Given the description of an element on the screen output the (x, y) to click on. 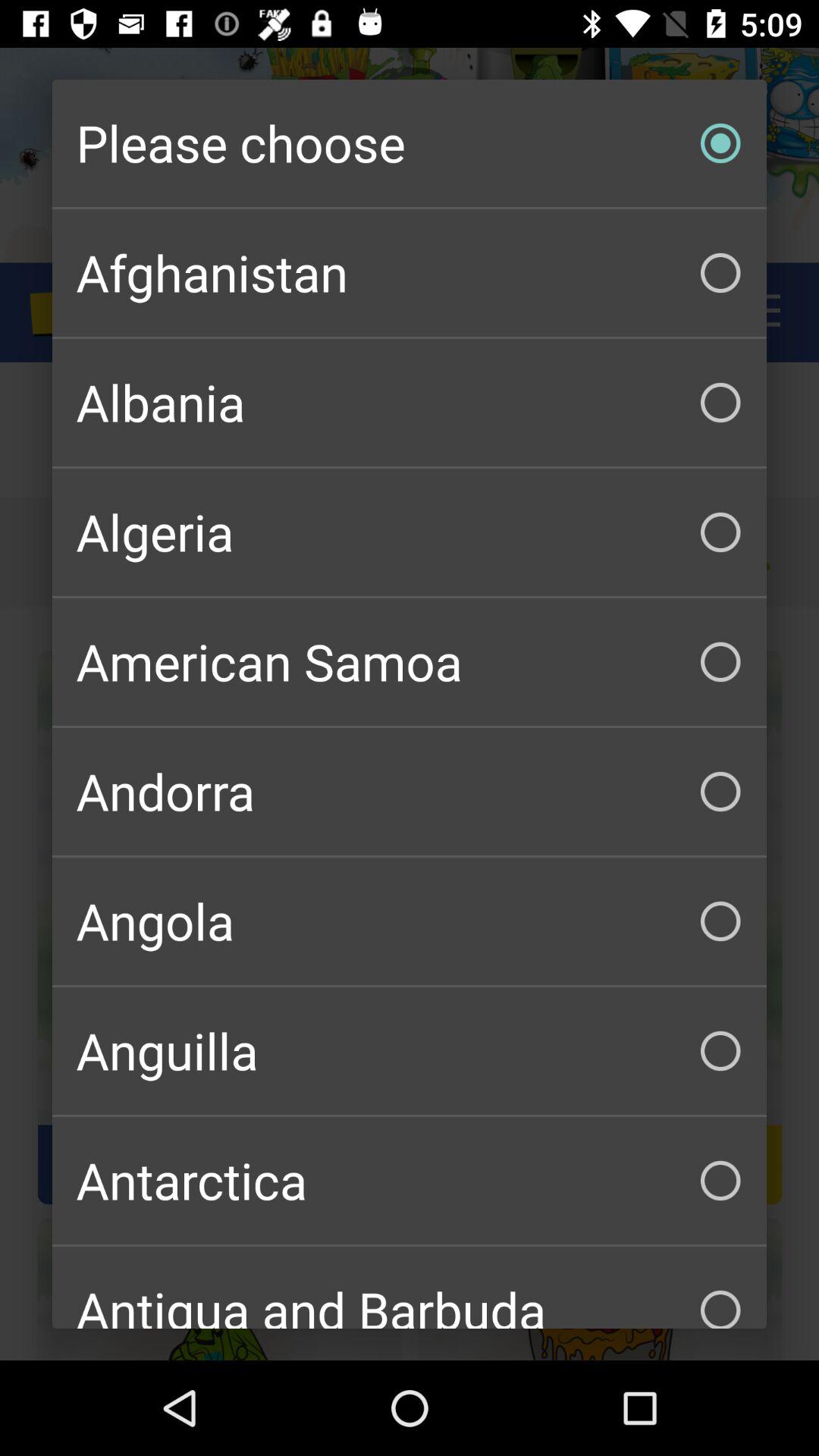
flip until the american samoa icon (409, 661)
